Given the description of an element on the screen output the (x, y) to click on. 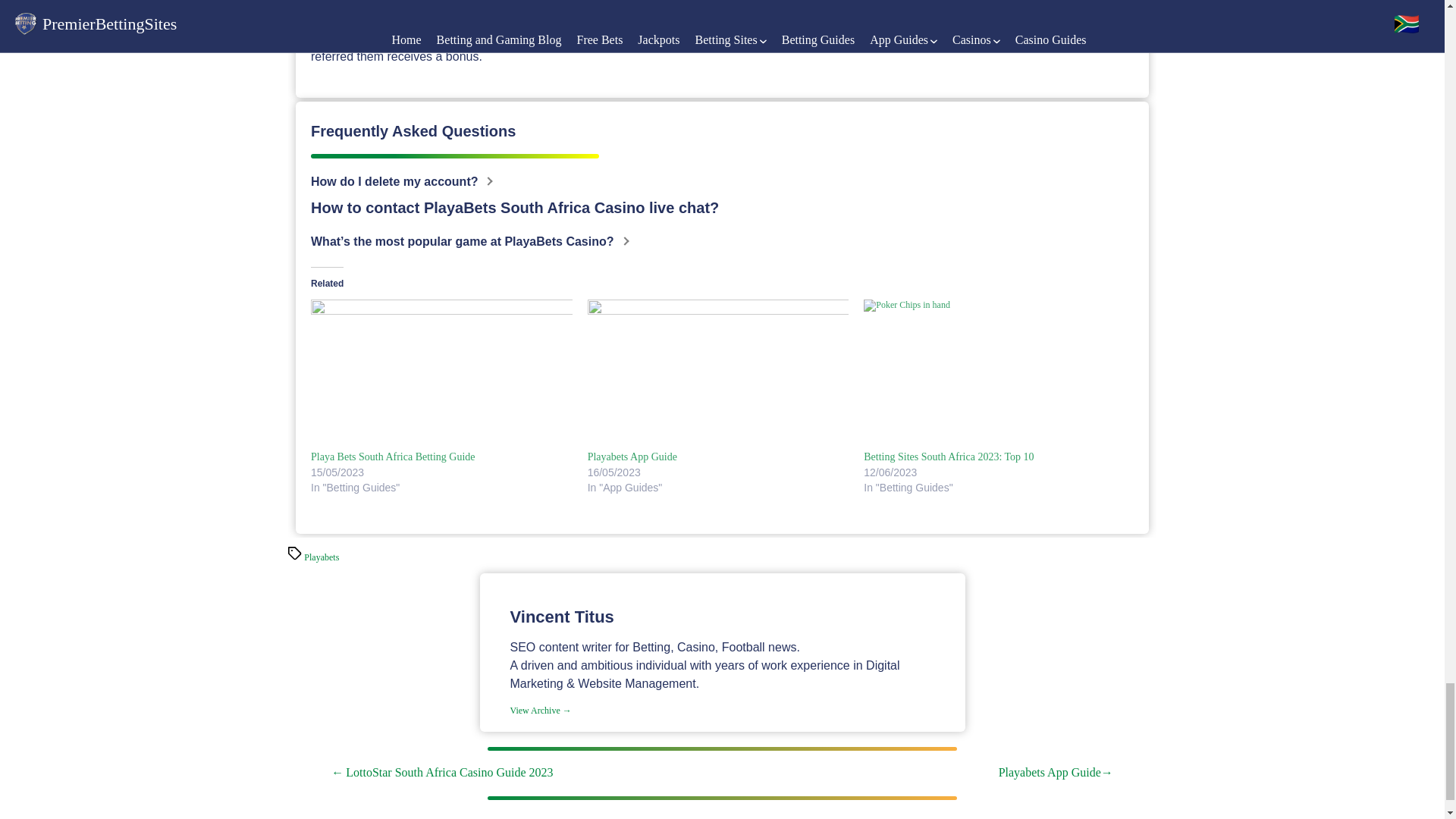
Playa Bets South Africa  Betting Guide (393, 456)
Betting Sites South Africa 2023: Top 10 (948, 456)
Playabets App Guide (632, 456)
Betting Sites South Africa 2023: Top 10 (994, 373)
Playa Bets South Africa  Betting Guide (441, 373)
Playabets App Guide (718, 373)
